Given the description of an element on the screen output the (x, y) to click on. 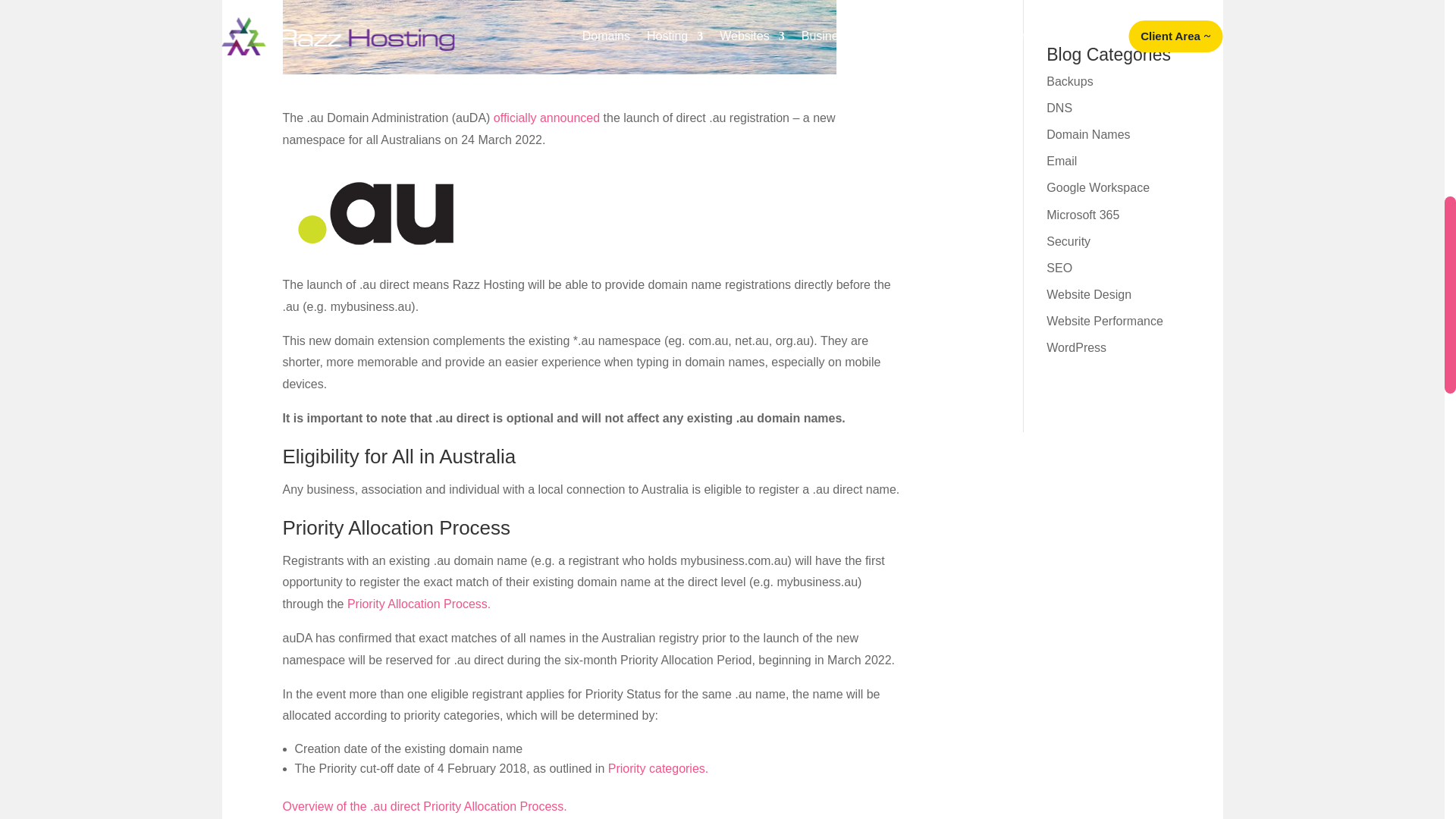
Backups (1069, 81)
Overview of the .au direct Priority Allocation Process. (424, 806)
direct-au-domains-australia-sydney (558, 37)
DNS (1058, 107)
officially announced (546, 117)
Priority categories (656, 768)
Priority Allocation Process. (418, 603)
Launch of .au direct domain names (376, 212)
